Given the description of an element on the screen output the (x, y) to click on. 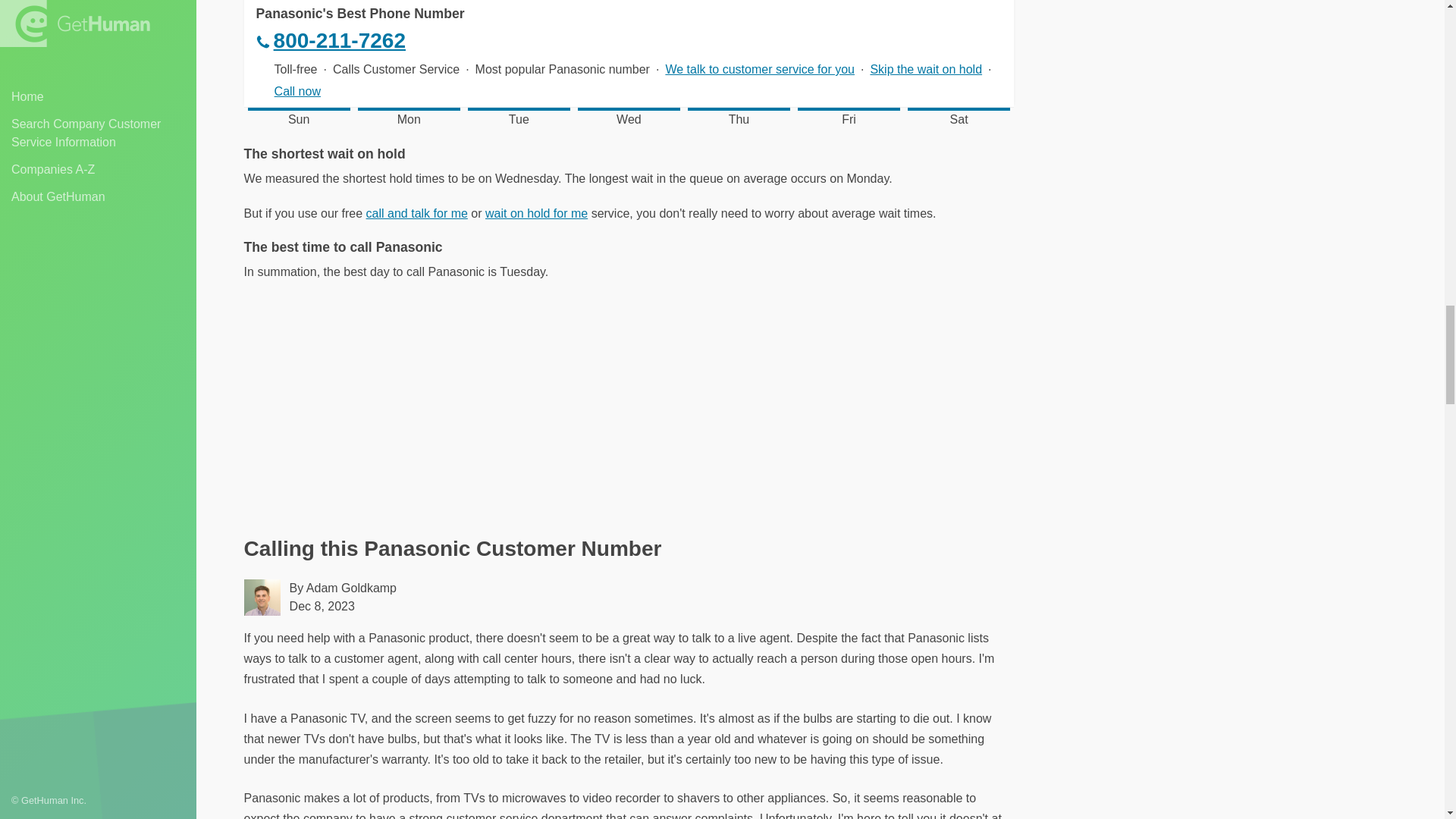
call and talk for me (416, 213)
By Adam Goldkamp (342, 587)
wait on hold for me (536, 213)
Monday is the busiest day (409, 55)
